Given the description of an element on the screen output the (x, y) to click on. 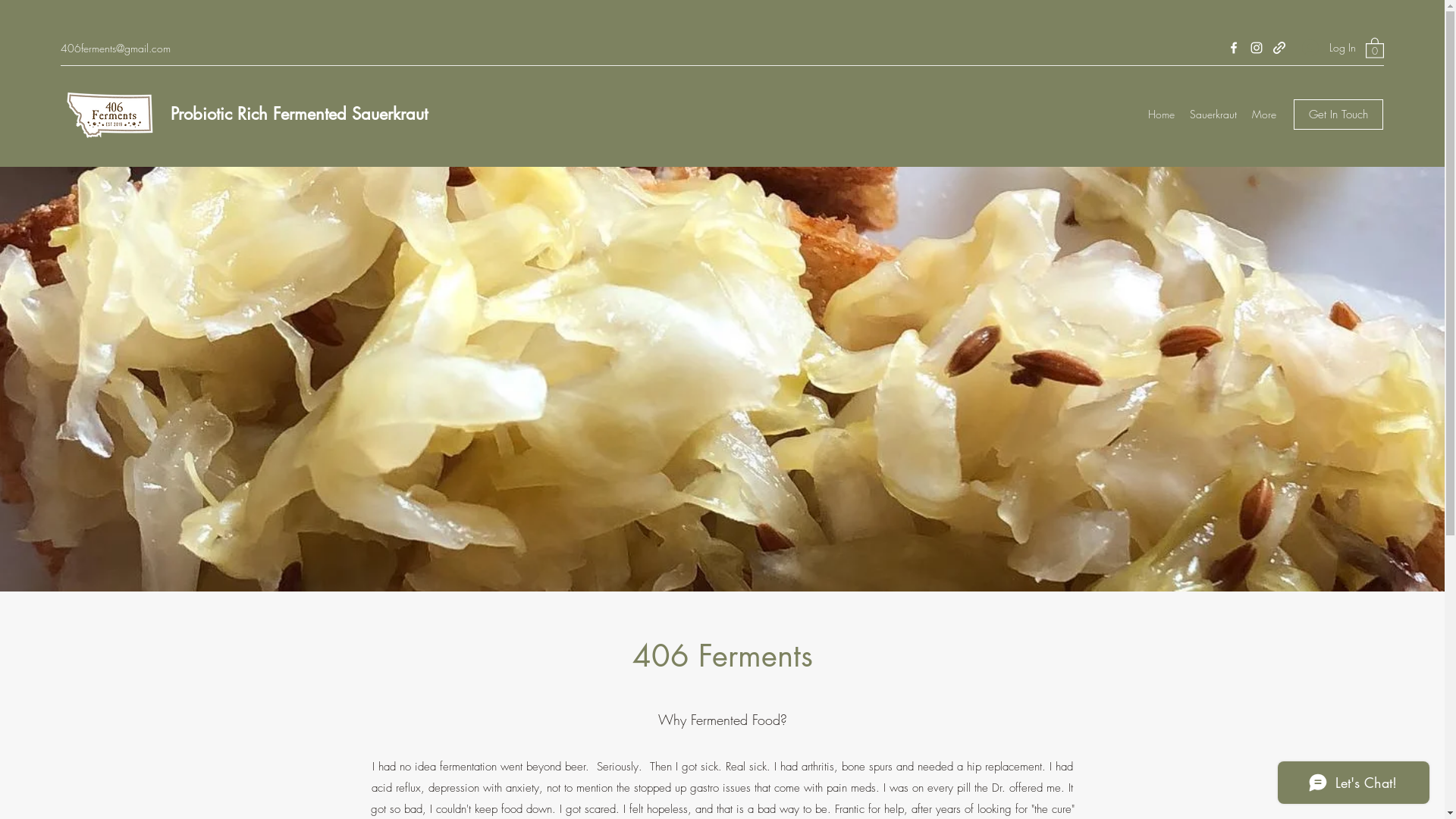
Log In Element type: text (1325, 47)
0 Element type: text (1374, 47)
Probiotic Rich Fermented Sauerkraut Element type: text (298, 113)
406ferments@gmail.com Element type: text (115, 47)
Sauerkraut Element type: text (1213, 114)
Home Element type: text (1161, 114)
